Given the description of an element on the screen output the (x, y) to click on. 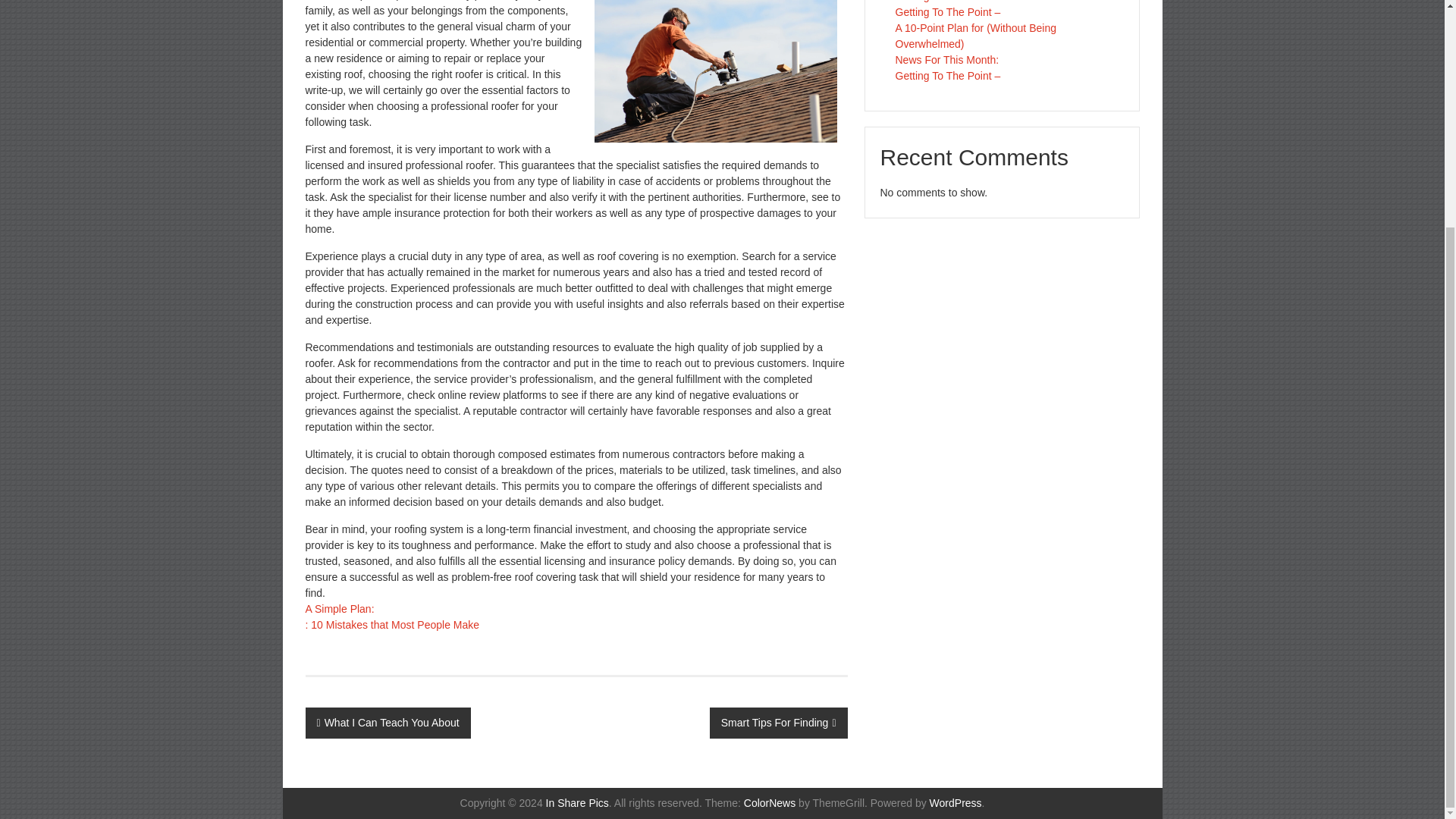
WordPress (955, 802)
ColorNews (769, 802)
In Share Pics (577, 802)
What I Can Teach You About (387, 722)
A Simple Plan: (339, 608)
News For This Month: (946, 60)
: 10 Mistakes that Most People Make (391, 624)
WordPress (955, 802)
In Share Pics (577, 802)
Smart Tips For Finding (778, 722)
ColorNews (769, 802)
